Given the description of an element on the screen output the (x, y) to click on. 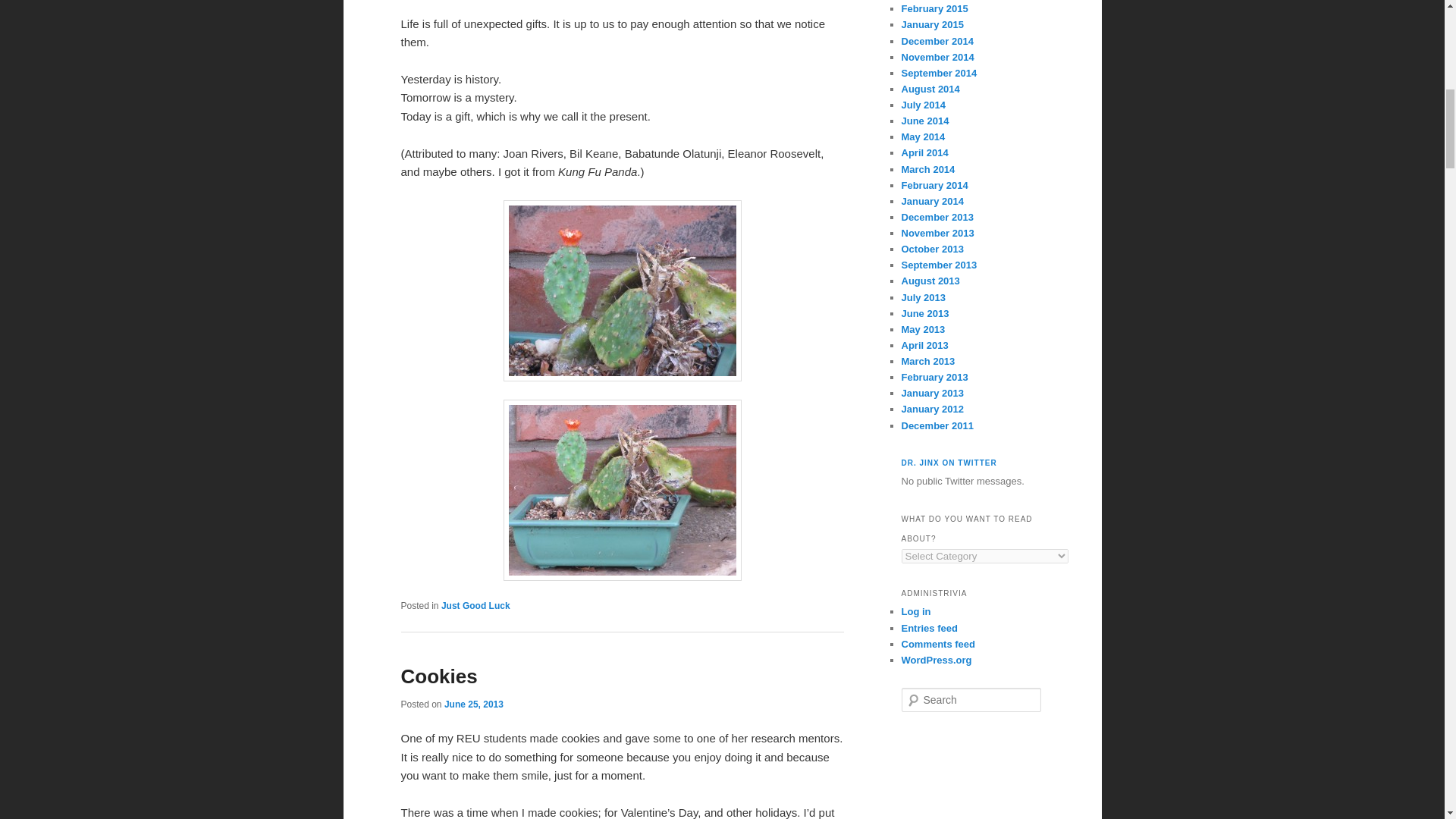
Just Good Luck (476, 605)
June 25, 2013 (473, 704)
8:02 am (473, 704)
Cookies (438, 676)
